Given the description of an element on the screen output the (x, y) to click on. 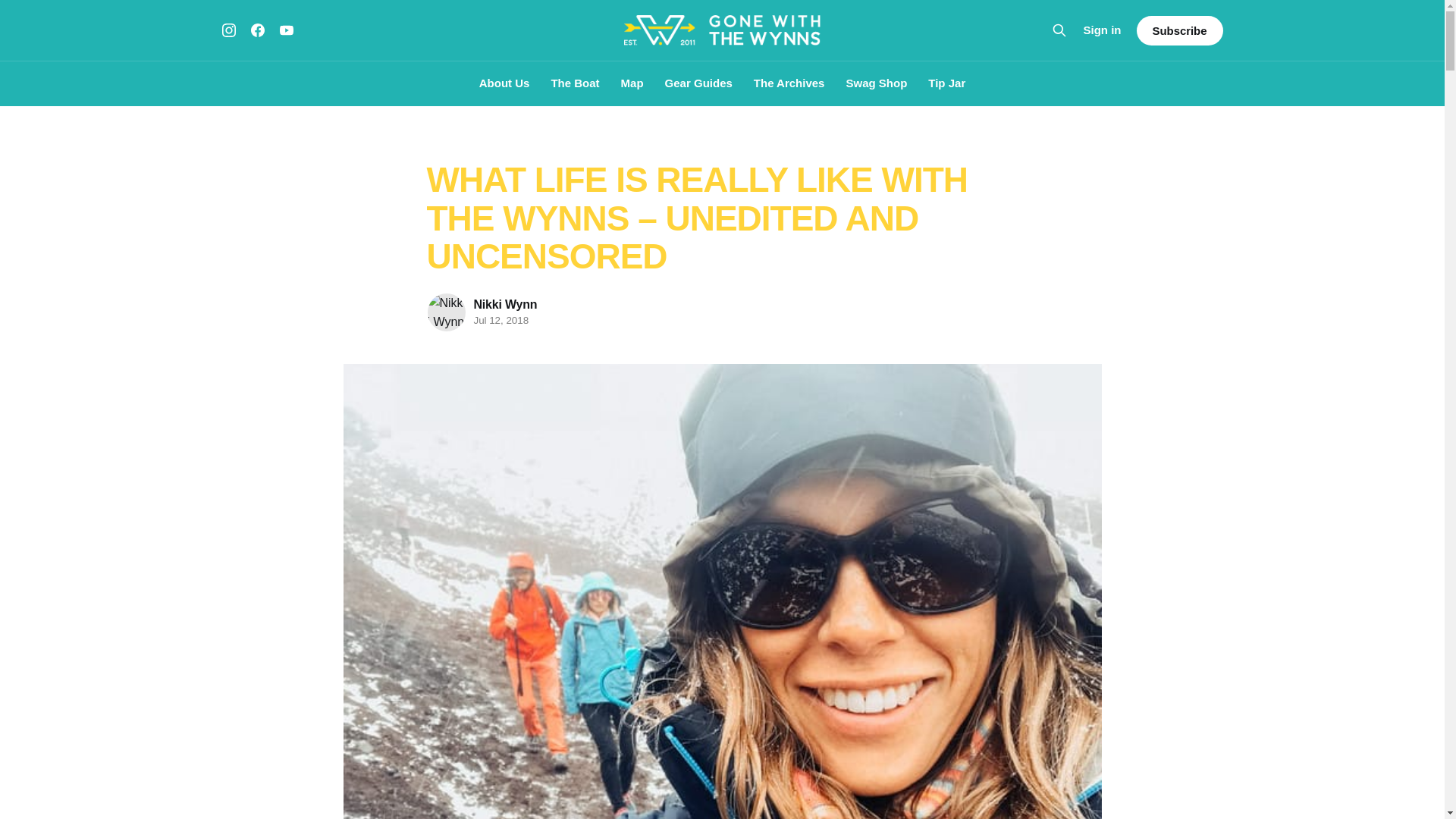
Sign in (1102, 30)
Tip Jar (946, 82)
Gear Guides (698, 82)
The Boat (574, 82)
Map (632, 82)
Subscribe (1179, 30)
About Us (504, 82)
The Archives (789, 82)
Nikki Wynn (505, 304)
Swag Shop (876, 82)
